Given the description of an element on the screen output the (x, y) to click on. 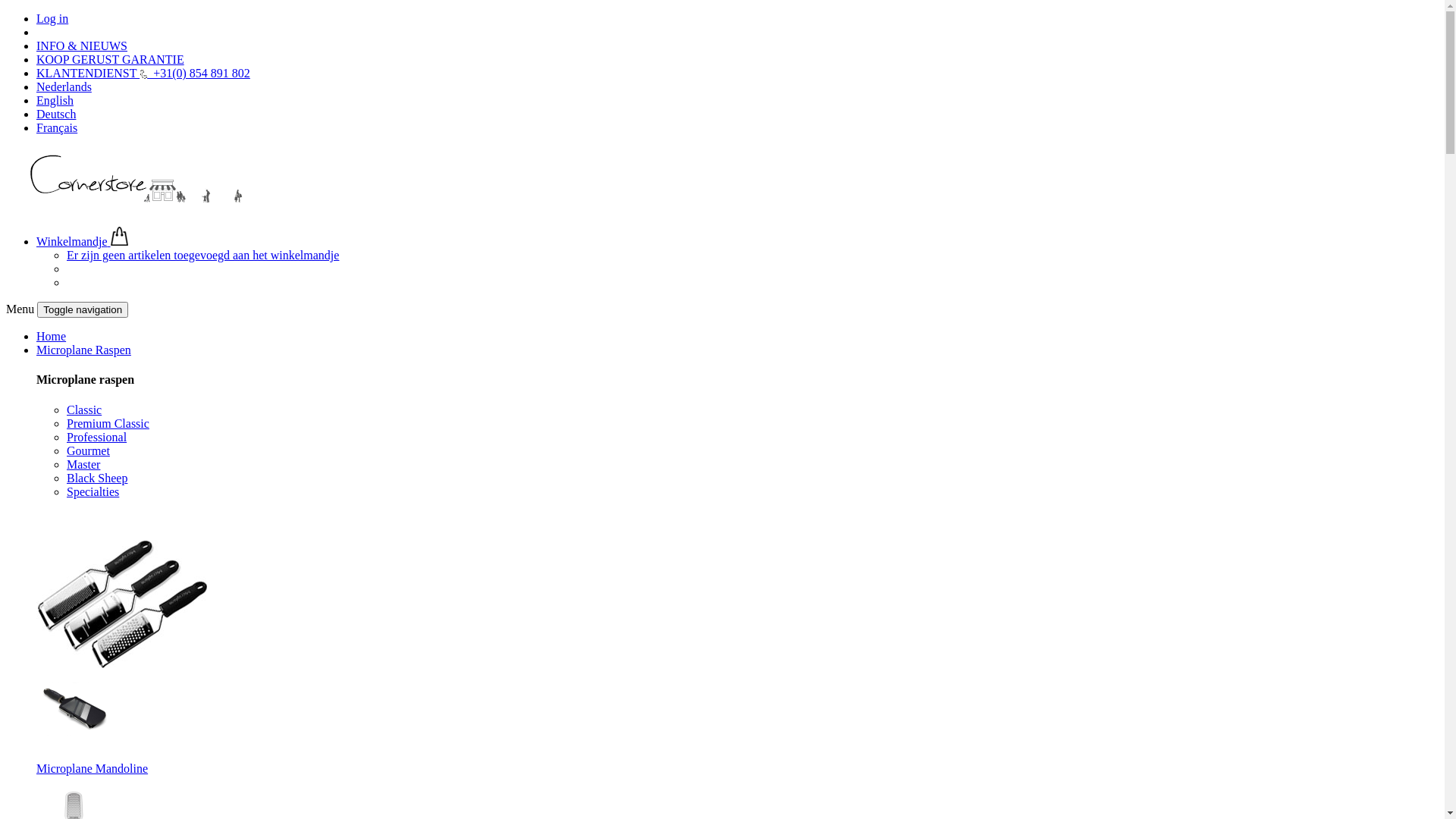
Deutsch Element type: text (55, 113)
Nederlands Element type: text (63, 86)
Microplane Raspen Element type: hover (121, 603)
Microplane Raspen Element type: text (83, 349)
Premium Classic Element type: text (107, 423)
Master Element type: text (83, 464)
INFO & NIEUWS Element type: text (81, 45)
Black Sheep Element type: text (96, 477)
Classic Element type: text (83, 409)
Microplane Mandoline Element type: text (91, 768)
Log in Element type: text (52, 18)
English Element type: text (54, 100)
Er zijn geen artikelen toegevoegd aan het winkelmandje Element type: text (202, 254)
Professional Element type: text (96, 436)
Corner Store Element type: hover (149, 179)
Gourmet Element type: text (87, 450)
Specialties Element type: text (92, 491)
KLANTENDIENST   +31(0) 854 891 802 Element type: text (143, 72)
Microplane Mandoline Element type: hover (74, 708)
KOOP GERUST GARANTIE Element type: text (110, 59)
Home Element type: text (50, 335)
Winkelmandje Element type: text (82, 241)
Toggle navigation Element type: text (82, 309)
